Given the description of an element on the screen output the (x, y) to click on. 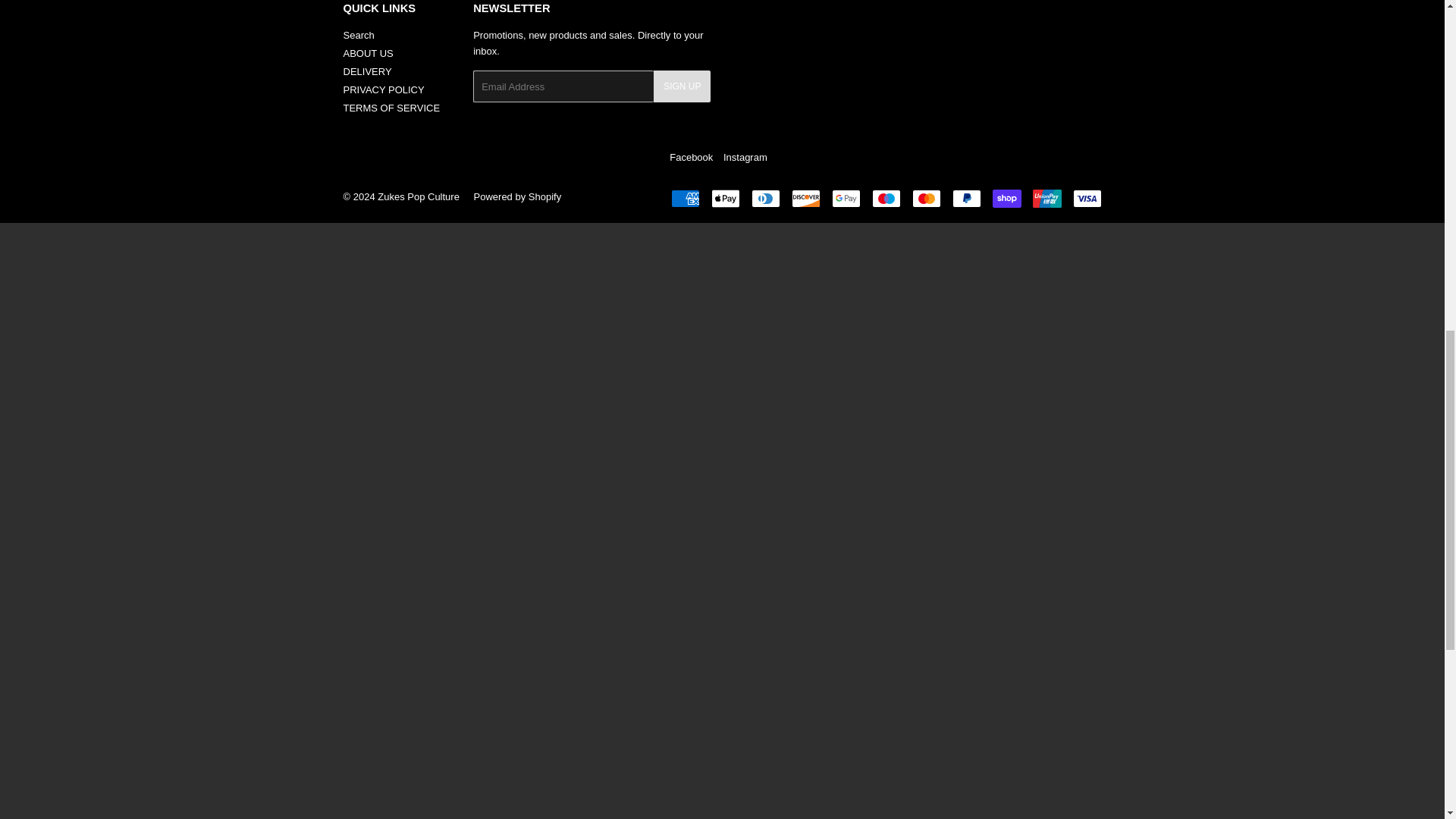
Shop Pay (1005, 198)
Union Pay (1046, 198)
Mastercard (925, 198)
Discover (806, 198)
Maestro (886, 198)
Zukes Pop Culture on Facebook (691, 156)
Zukes Pop Culture on Instagram (745, 156)
American Express (683, 198)
Apple Pay (725, 198)
Diners Club (764, 198)
